Given the description of an element on the screen output the (x, y) to click on. 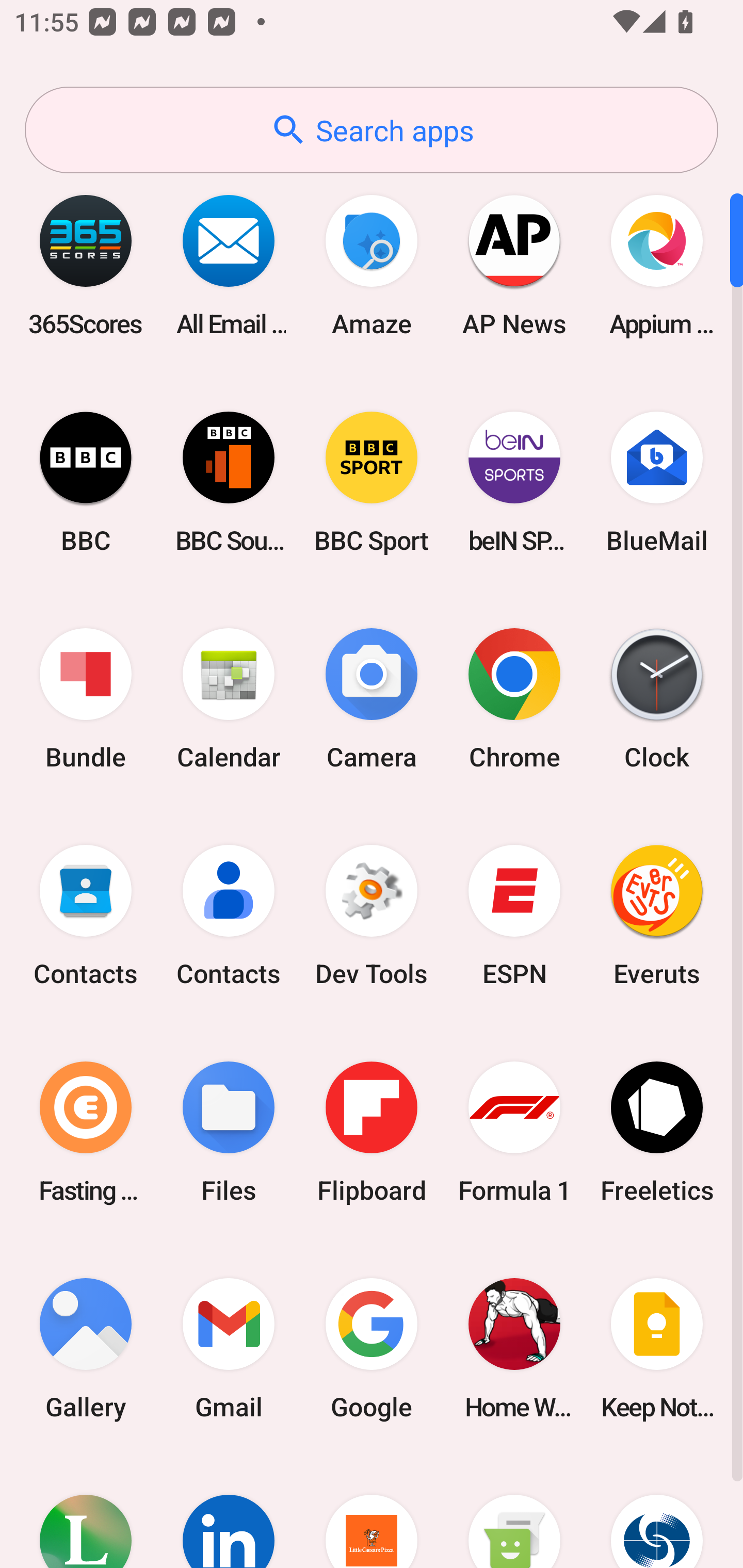
  Search apps (371, 130)
365Scores (85, 264)
All Email Connect (228, 264)
Amaze (371, 264)
AP News (514, 264)
Appium Settings (656, 264)
BBC (85, 482)
BBC Sounds (228, 482)
BBC Sport (371, 482)
beIN SPORTS (514, 482)
BlueMail (656, 482)
Bundle (85, 699)
Calendar (228, 699)
Camera (371, 699)
Chrome (514, 699)
Clock (656, 699)
Contacts (85, 915)
Contacts (228, 915)
Dev Tools (371, 915)
ESPN (514, 915)
Everuts (656, 915)
Fasting Coach (85, 1131)
Files (228, 1131)
Flipboard (371, 1131)
Formula 1 (514, 1131)
Freeletics (656, 1131)
Gallery (85, 1348)
Gmail (228, 1348)
Google (371, 1348)
Home Workout (514, 1348)
Keep Notes (656, 1348)
Lifesum (85, 1512)
LinkedIn (228, 1512)
Little Caesars Pizza (371, 1512)
Messaging (514, 1512)
MyObservatory (656, 1512)
